Given the description of an element on the screen output the (x, y) to click on. 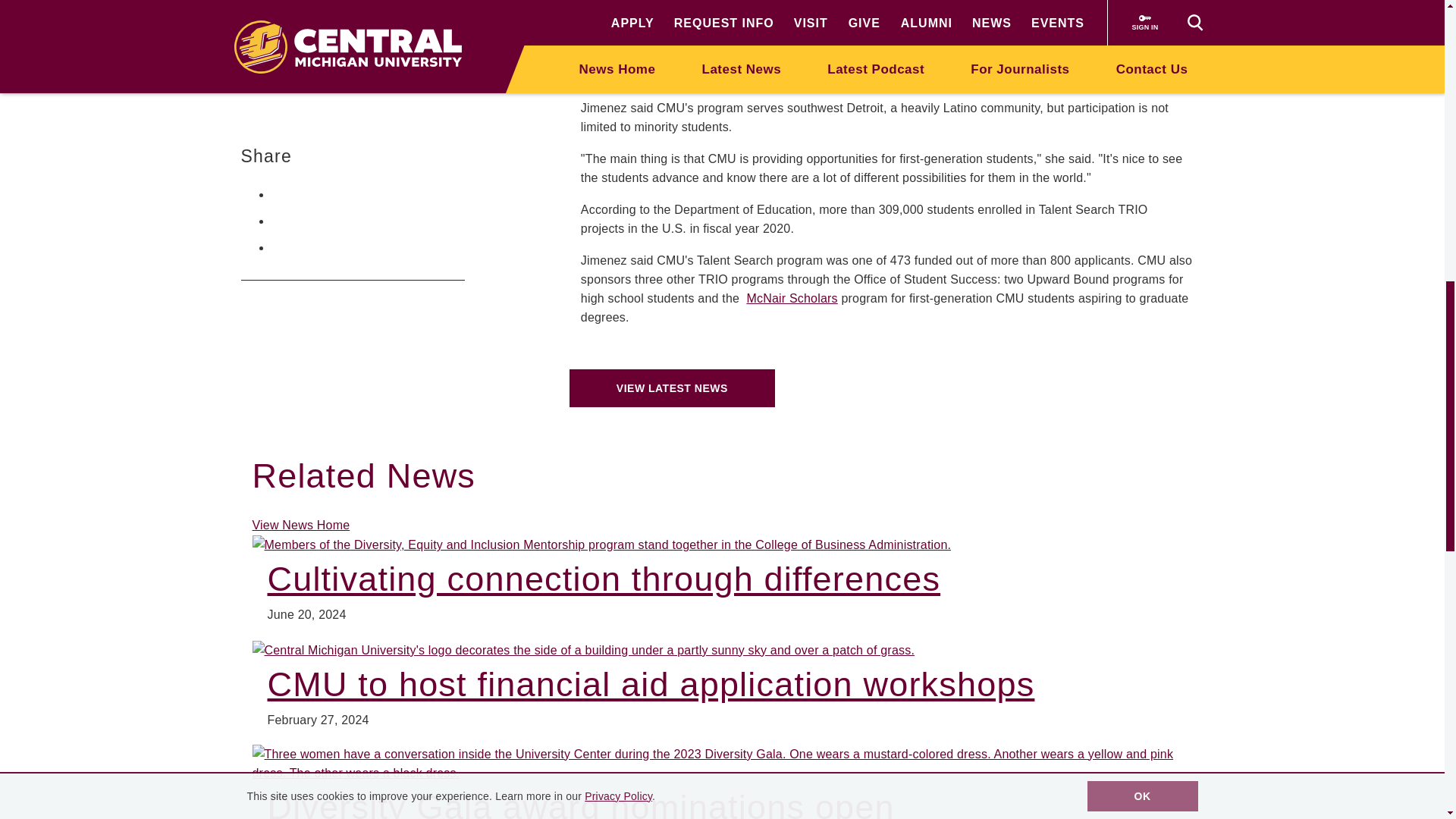
McNair Scholars (791, 297)
